Given the description of an element on the screen output the (x, y) to click on. 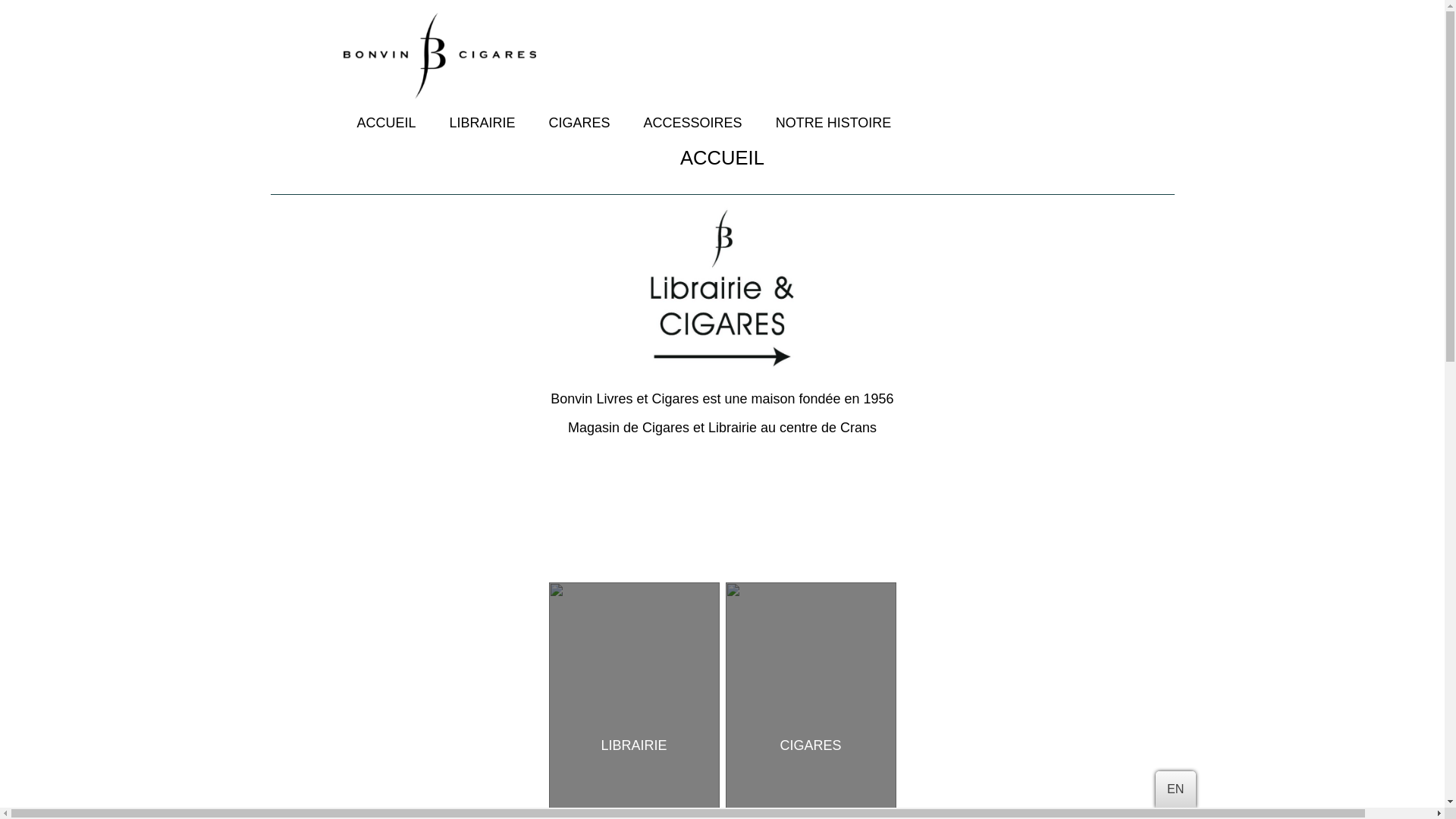
NOTRE HISTOIRE Element type: text (833, 122)
CIGARES Element type: text (809, 745)
EN Element type: text (1175, 789)
ACCUEIL Element type: text (385, 122)
CIGARES Element type: text (579, 122)
LIBRAIRIE Element type: text (482, 122)
LIBRAIRIE Element type: text (633, 745)
ACCESSOIRES Element type: text (693, 122)
